Given the description of an element on the screen output the (x, y) to click on. 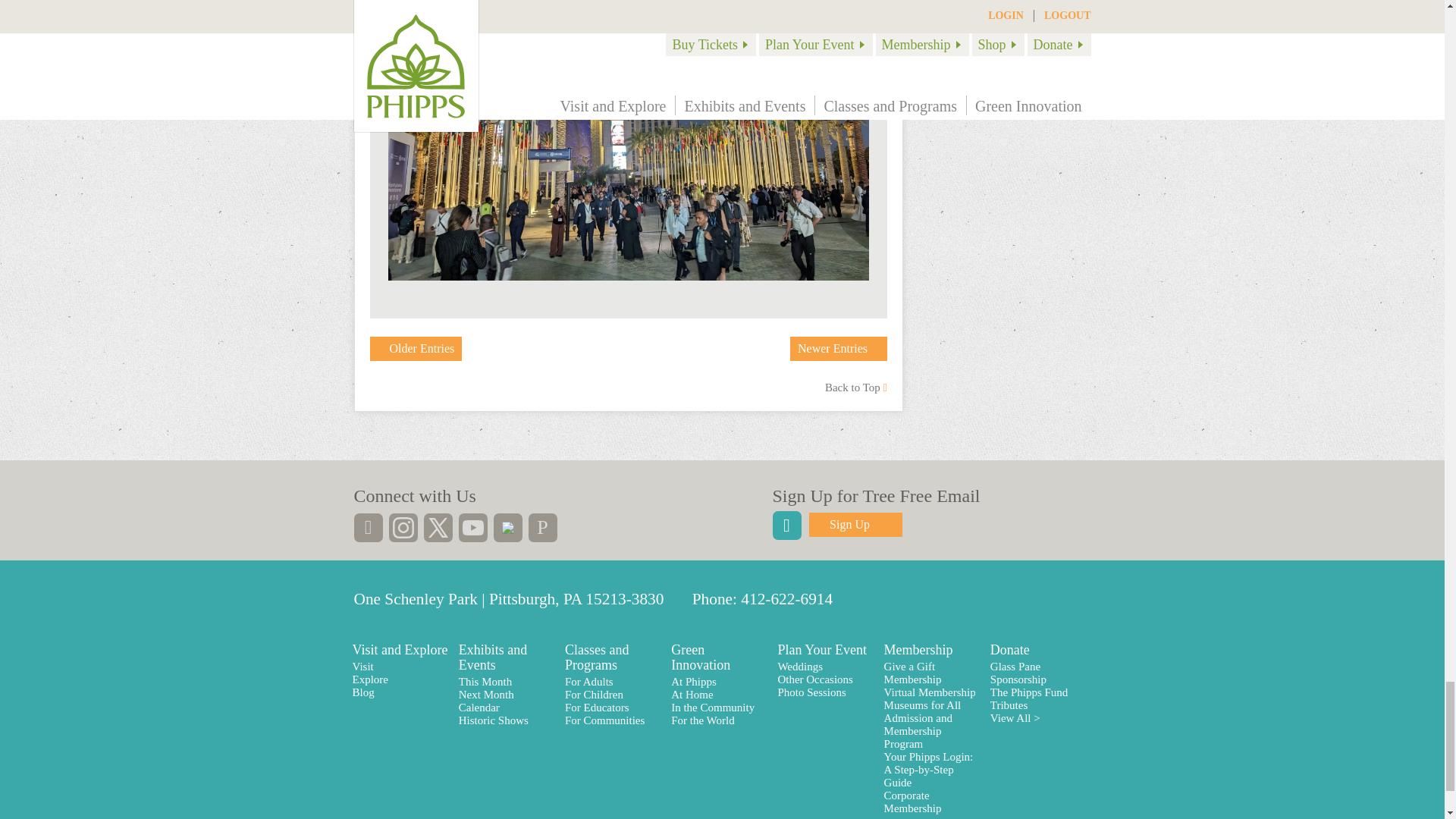
instagram (402, 527)
twitter, x (437, 527)
youtube (472, 527)
tiktok (507, 527)
facebook (367, 527)
pinterest (541, 527)
